Given the description of an element on the screen output the (x, y) to click on. 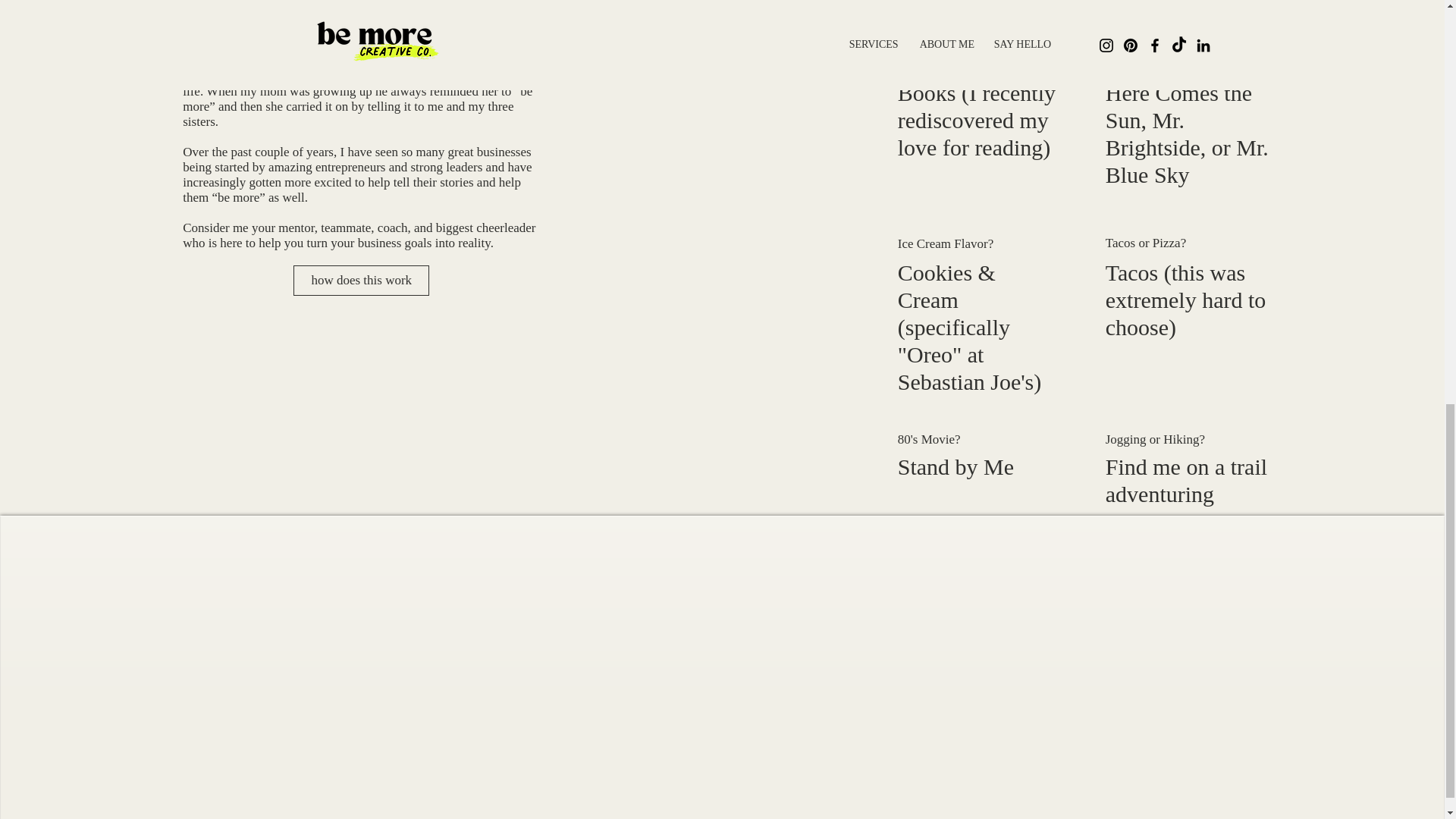
how does this work (361, 280)
